Given the description of an element on the screen output the (x, y) to click on. 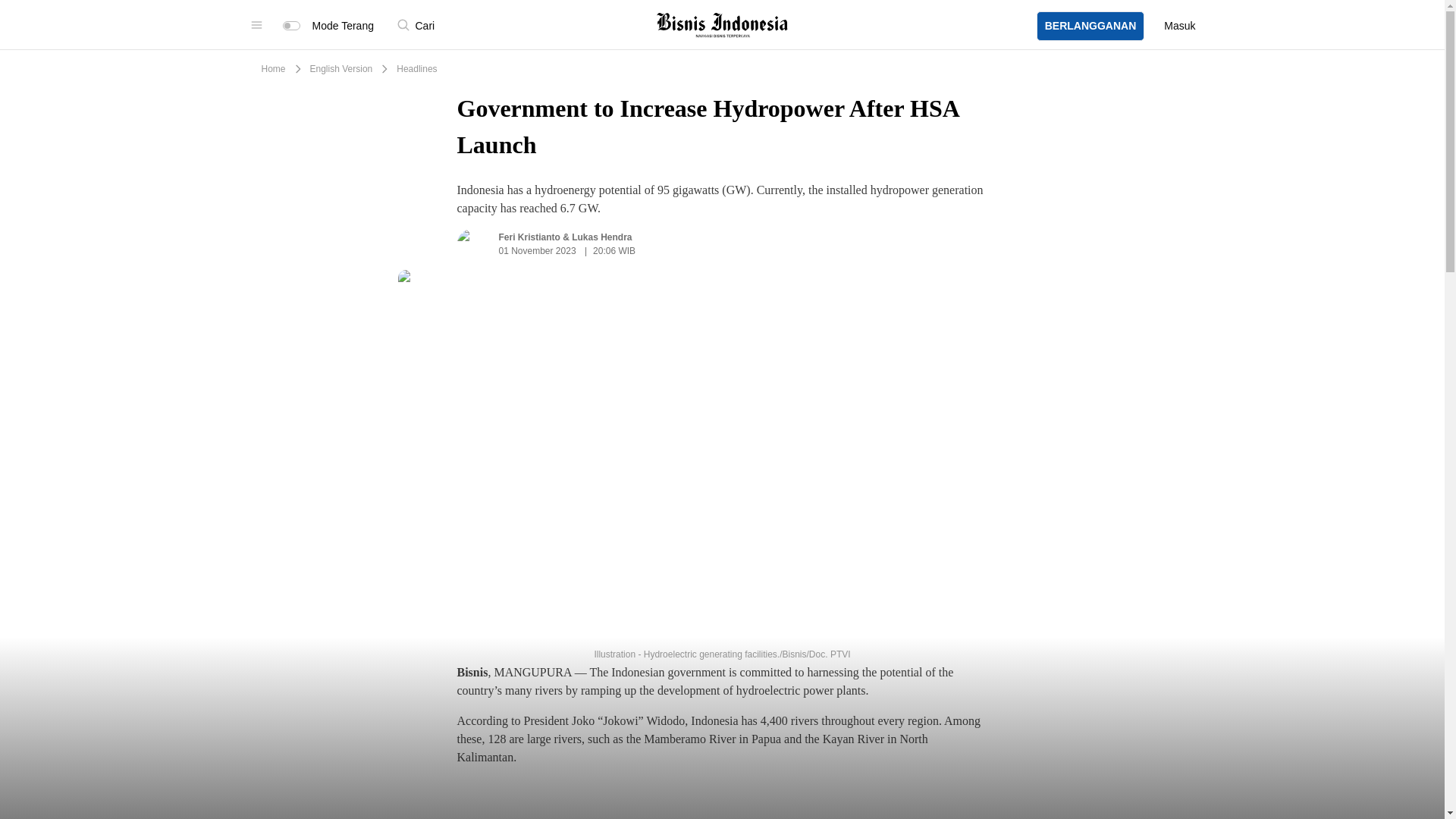
Home (272, 69)
BERLANGGANAN (1091, 8)
English Version (341, 69)
Masuk (1179, 11)
Headlines (416, 69)
